Given the description of an element on the screen output the (x, y) to click on. 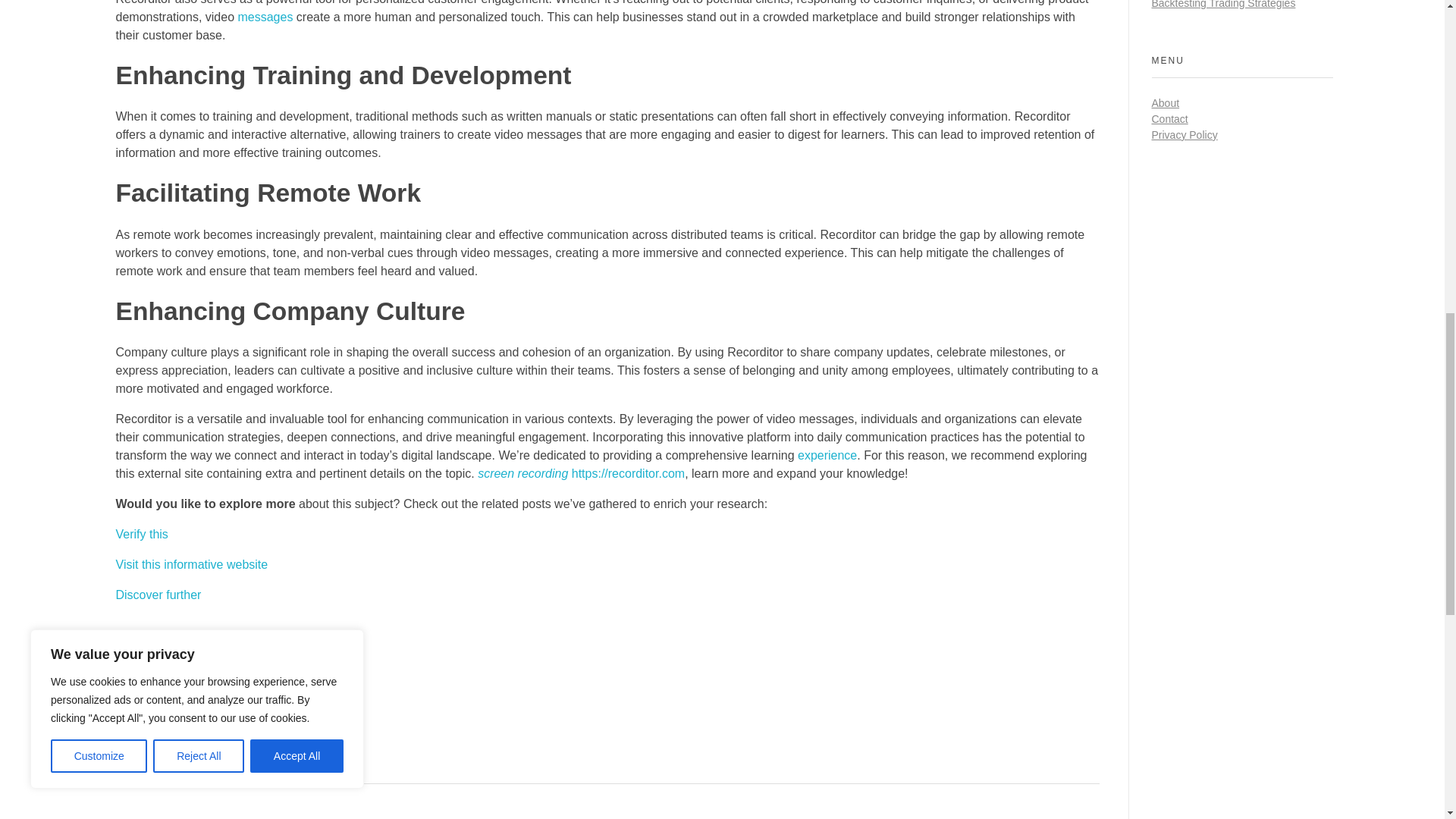
experience (827, 454)
messages (264, 16)
Verify this (141, 533)
Discover further (157, 594)
Visit this informative website (191, 563)
